Given the description of an element on the screen output the (x, y) to click on. 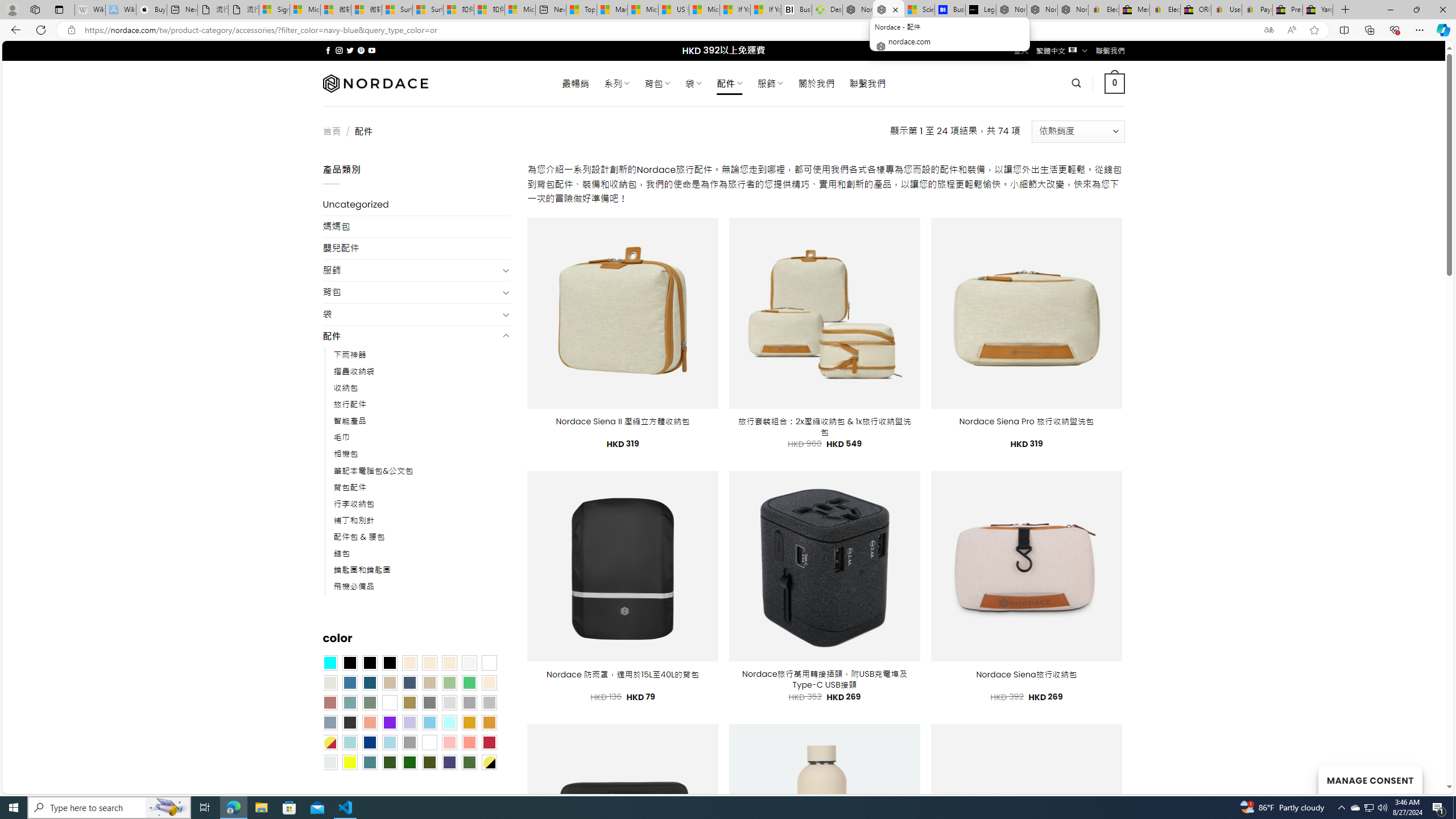
Show translate options (1268, 29)
Microsoft account | Account Checkup (519, 9)
